Given the description of an element on the screen output the (x, y) to click on. 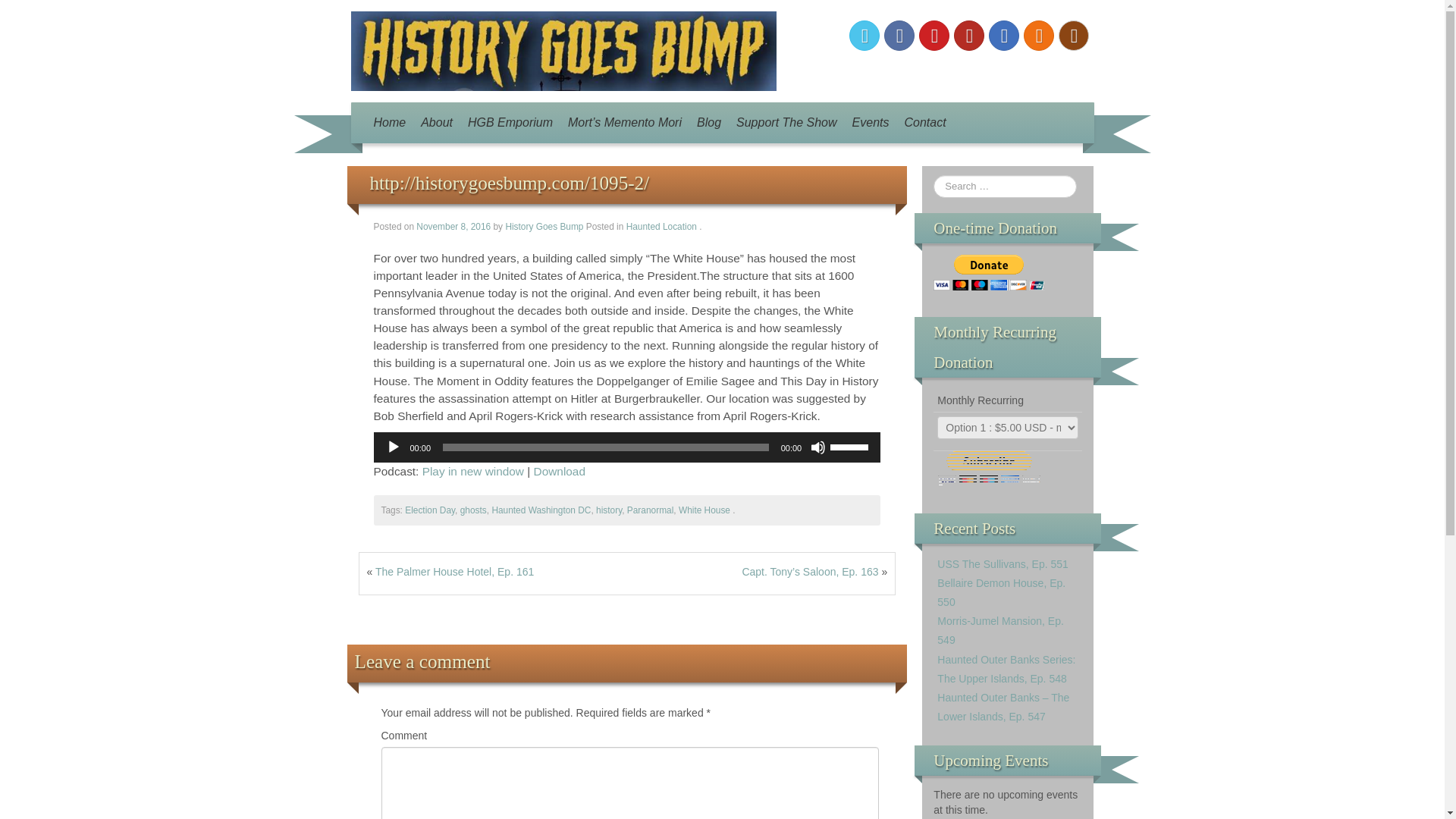
The Palmer House Hotel, Ep. 161 (454, 571)
About (436, 122)
Download (559, 471)
USS The Sullivans, Ep. 551 (1002, 563)
Support The Show (786, 122)
Contact (924, 122)
Blog (708, 122)
Download (559, 471)
History Goes Bump (563, 50)
History Goes Bump Twitter (863, 35)
